Given the description of an element on the screen output the (x, y) to click on. 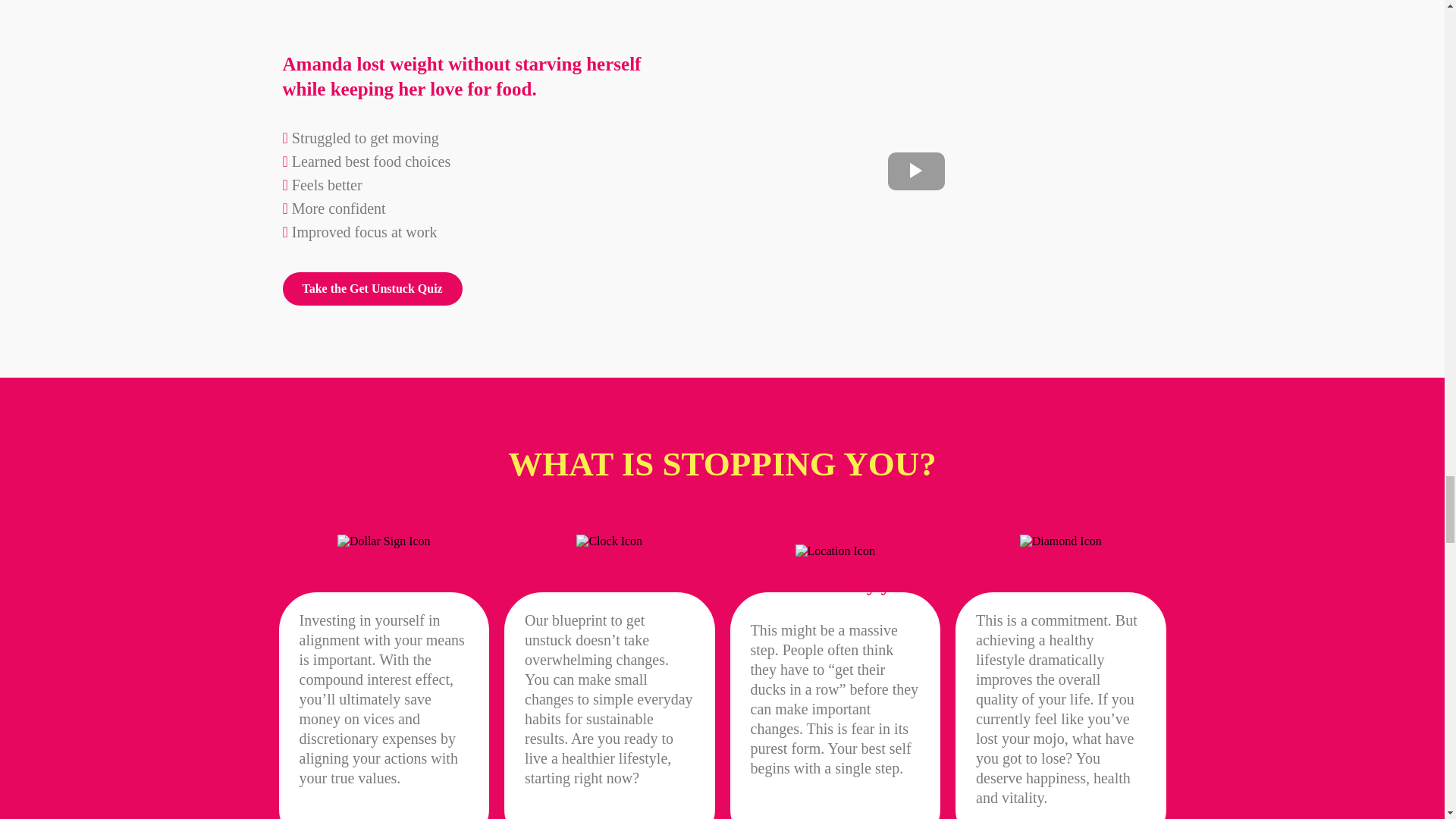
Take the Get Unstuck Quiz (371, 288)
